Given the description of an element on the screen output the (x, y) to click on. 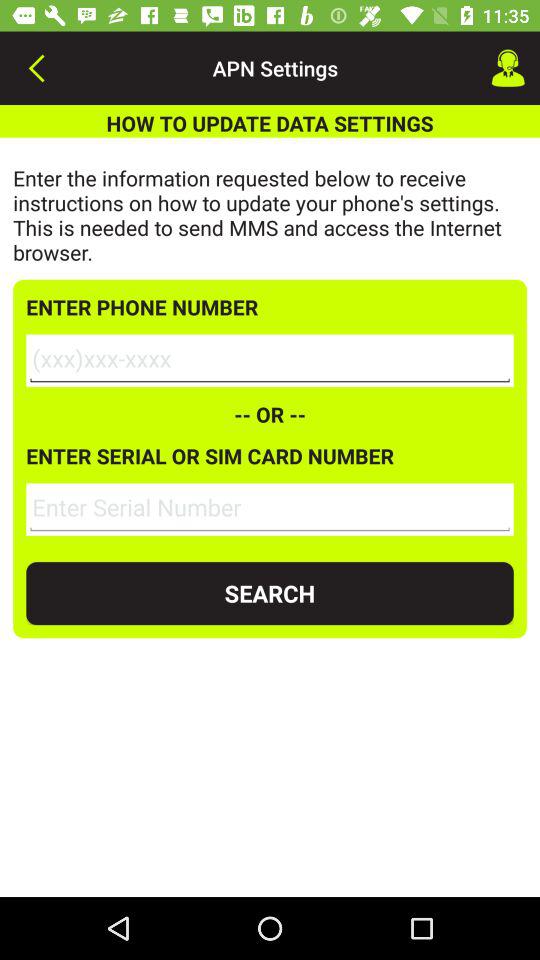
scroll until search (269, 593)
